Given the description of an element on the screen output the (x, y) to click on. 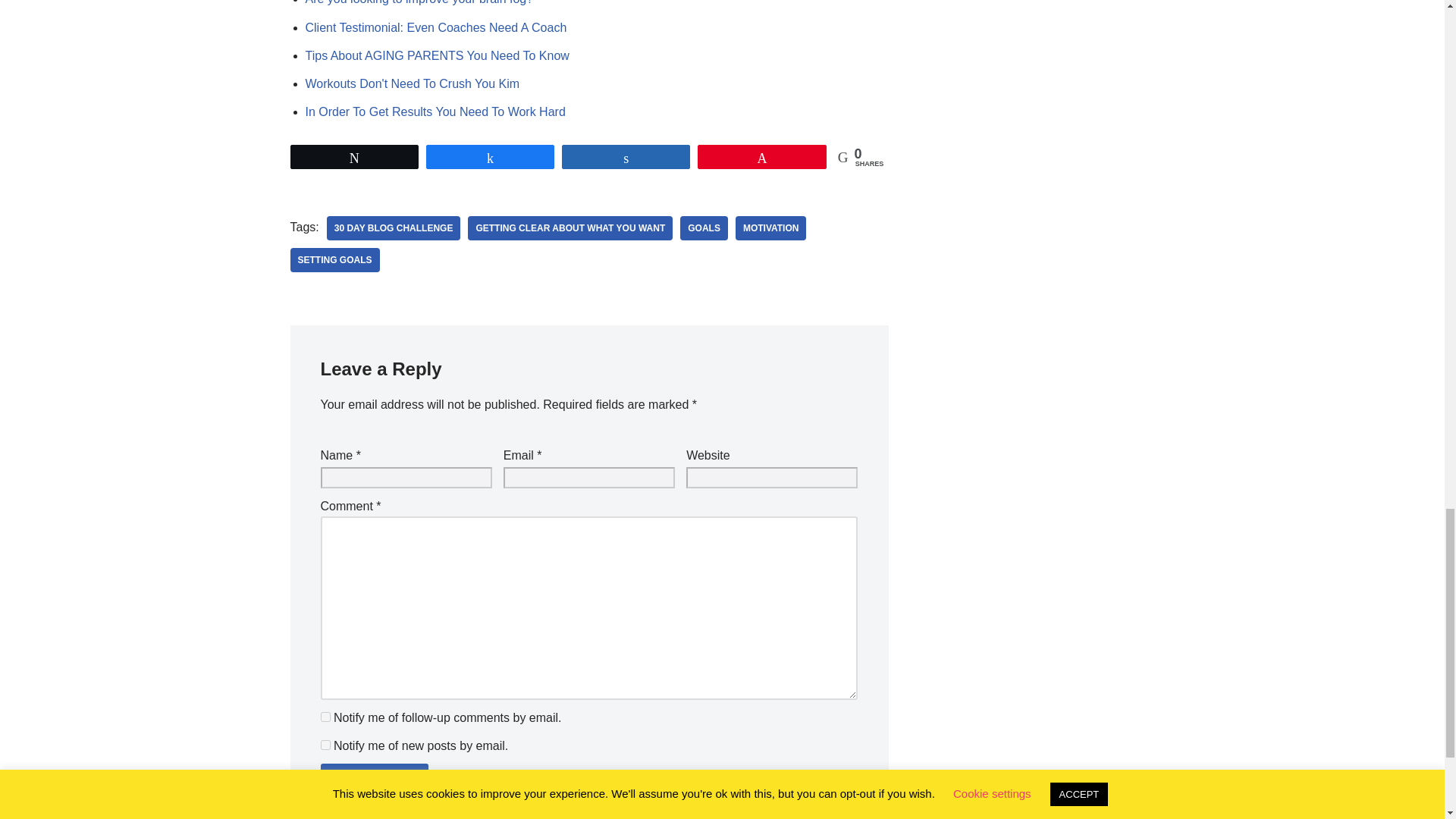
goals (703, 228)
subscribe (325, 716)
Are you looking to improve your brain fog? (418, 2)
In Order To Get Results You Need To Work Hard (434, 111)
Workouts Don't Need To Crush You Kim (411, 83)
subscribe (325, 745)
30 day blog challenge (393, 228)
getting clear about what you want (569, 228)
Post Comment (374, 783)
Client Testimonial: Even Coaches Need A Coach (435, 27)
